Given the description of an element on the screen output the (x, y) to click on. 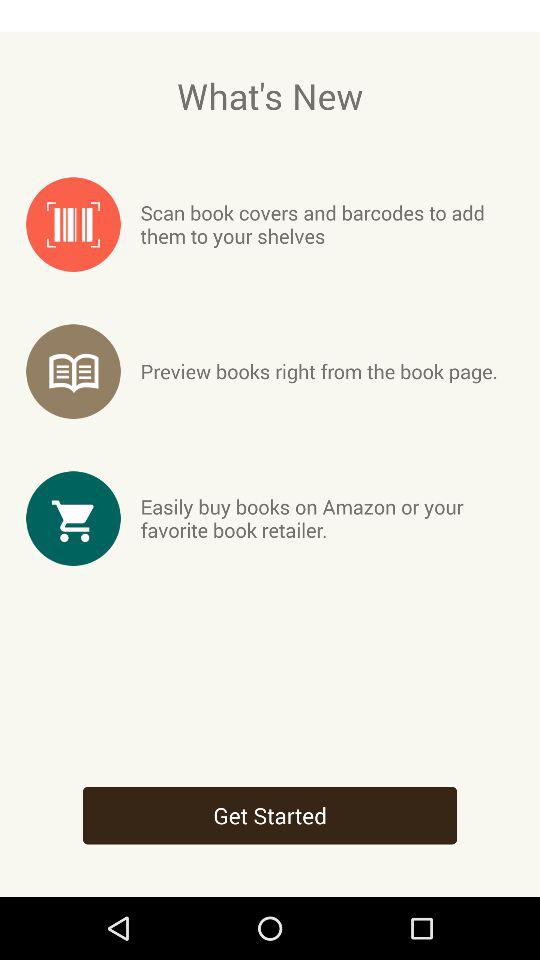
flip until the get started icon (269, 815)
